Given the description of an element on the screen output the (x, y) to click on. 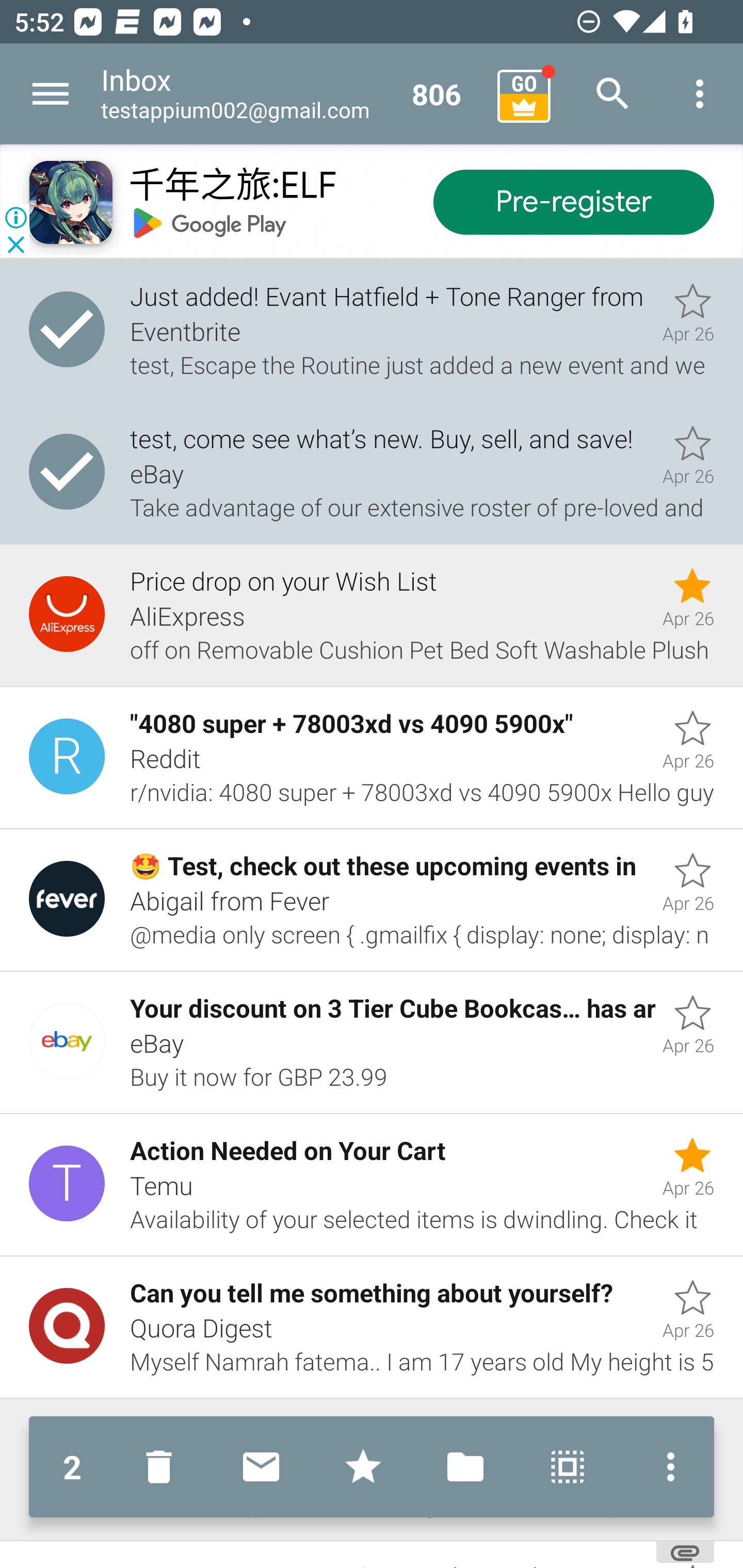
Navigate up (50, 93)
Inbox testappium002@gmail.com 806 (291, 93)
Search (612, 93)
More options (699, 93)
2 2 messages (71, 1466)
Move to Deleted (162, 1466)
Mark unread (261, 1466)
Mark with stars (363, 1466)
Move to folder… (465, 1466)
Select all (567, 1466)
More options (666, 1466)
